Given the description of an element on the screen output the (x, y) to click on. 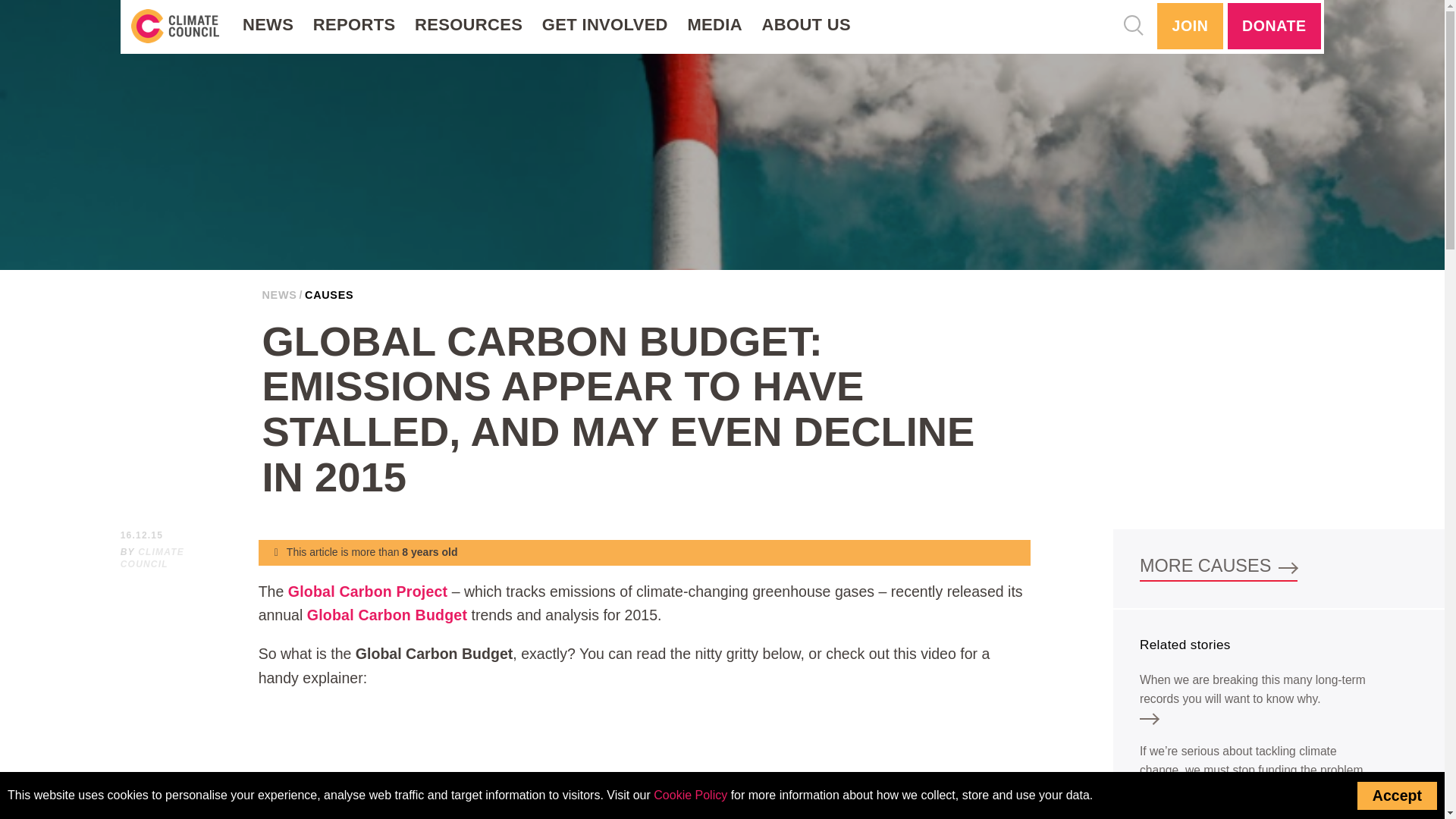
NEWS (268, 25)
GET INVOLVED (604, 25)
REPORTS (354, 25)
JOIN (1190, 26)
DONATE (1274, 26)
RESOURCES (468, 25)
Posts by Climate Council (152, 558)
Cookie Policy (689, 794)
